Given the description of an element on the screen output the (x, y) to click on. 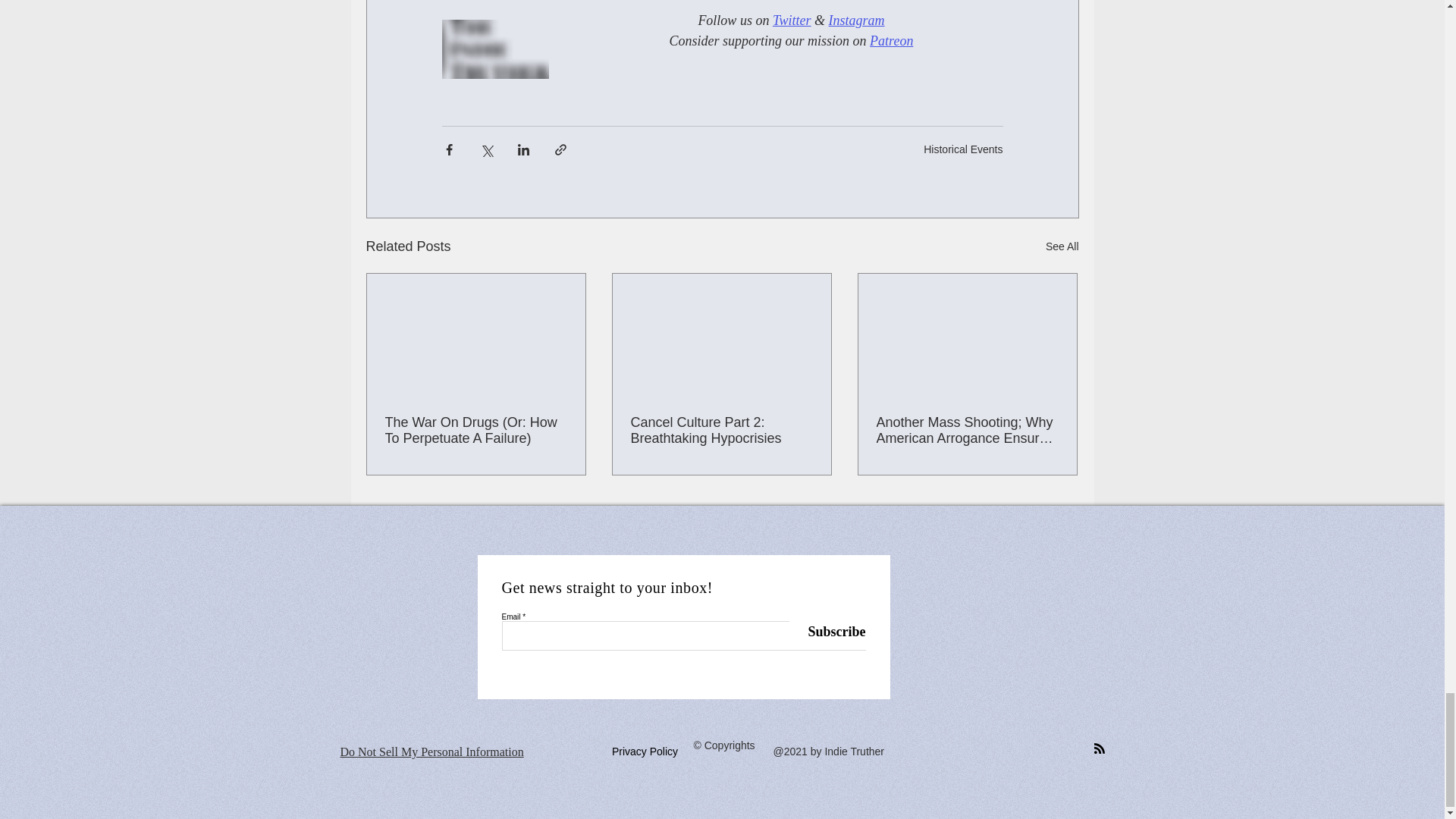
Historical Events (963, 149)
Patreon (890, 40)
Instagram (855, 20)
Twitter (790, 20)
See All (1061, 246)
